Given the description of an element on the screen output the (x, y) to click on. 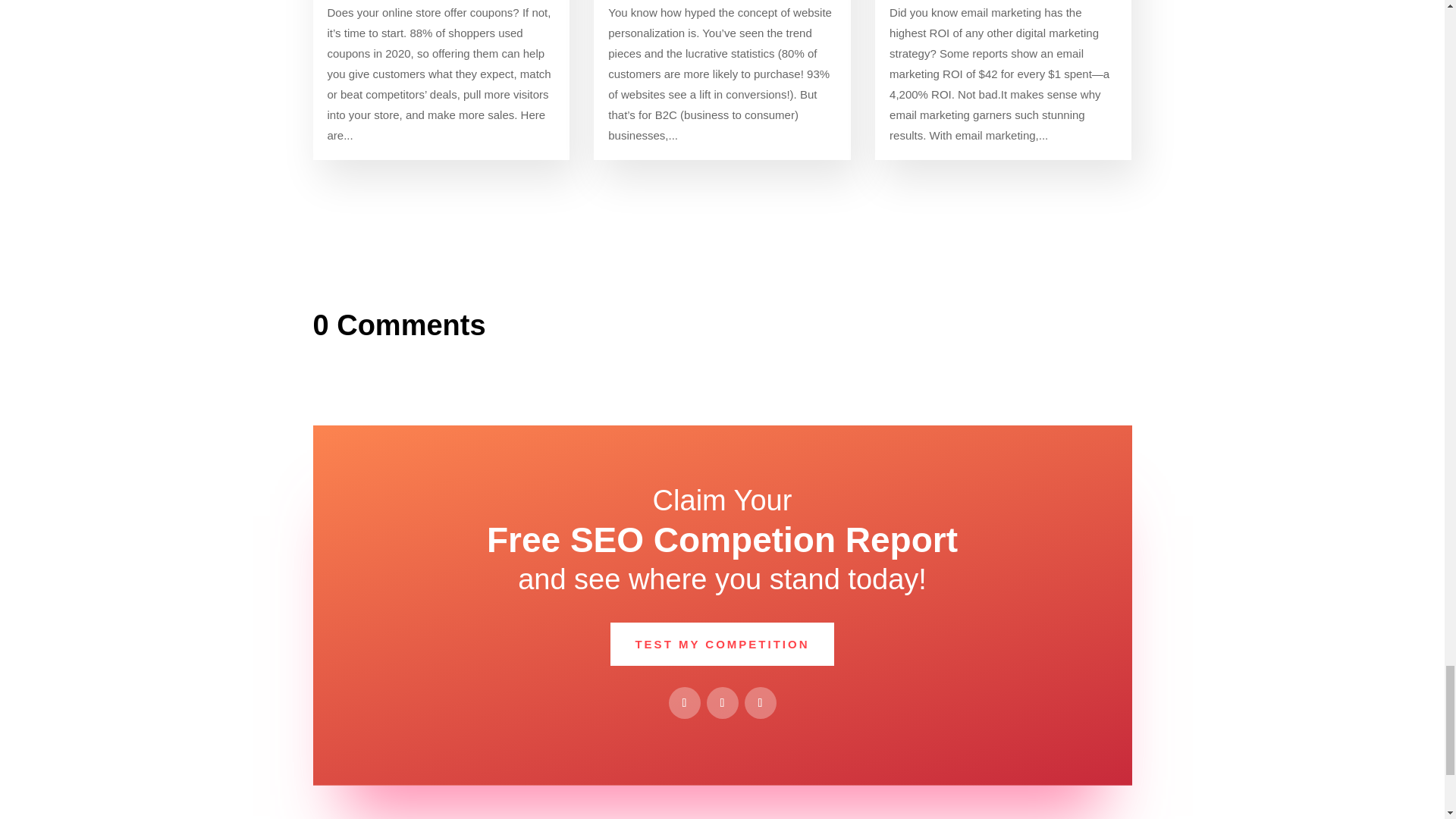
Follow on Facebook (684, 703)
Follow on X (722, 703)
Follow on Youtube (760, 703)
